Given the description of an element on the screen output the (x, y) to click on. 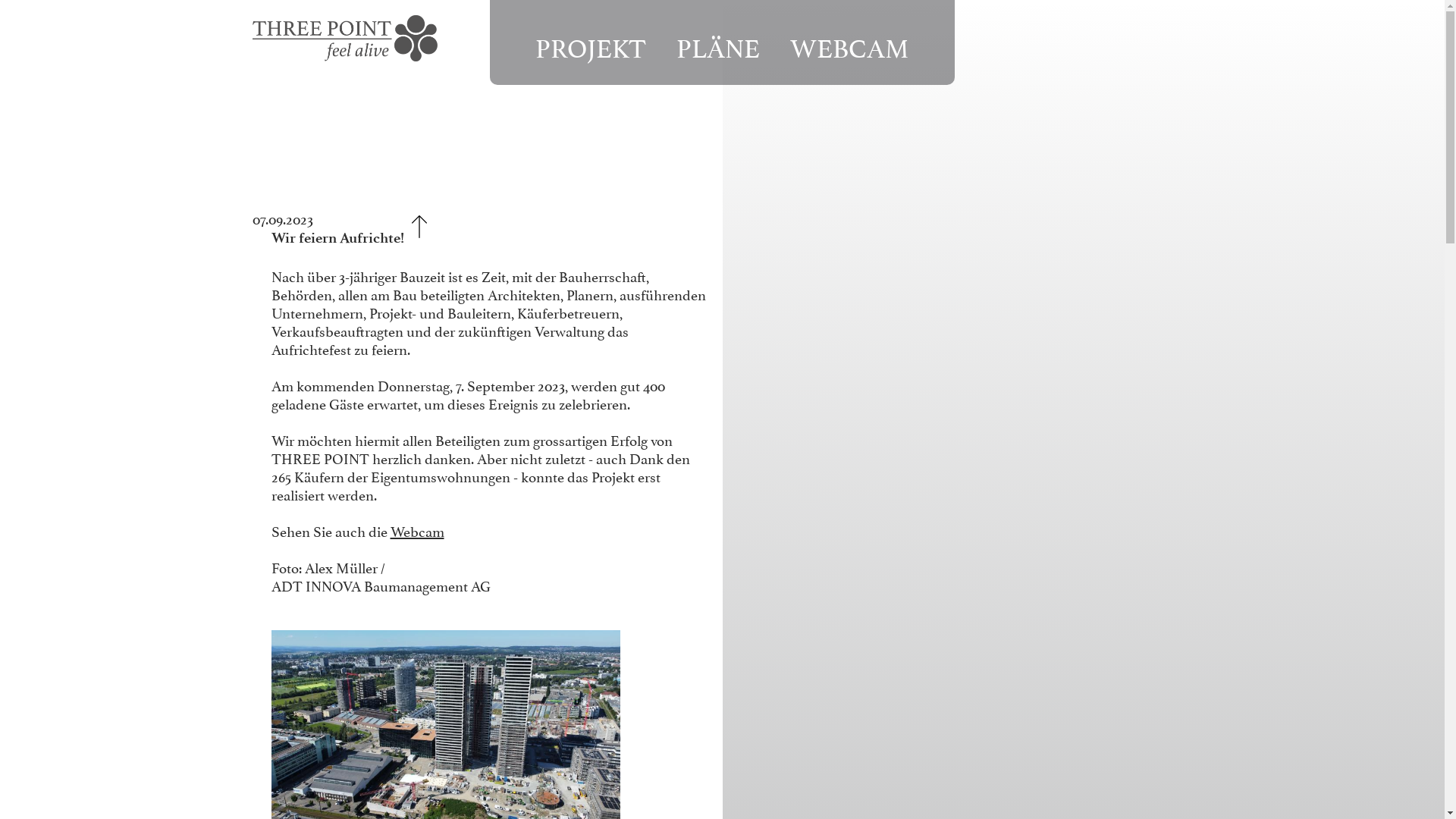
Webcam Element type: text (416, 529)
WEBCAM Element type: text (849, 45)
PROJEKT Element type: text (590, 45)
